Given the description of an element on the screen output the (x, y) to click on. 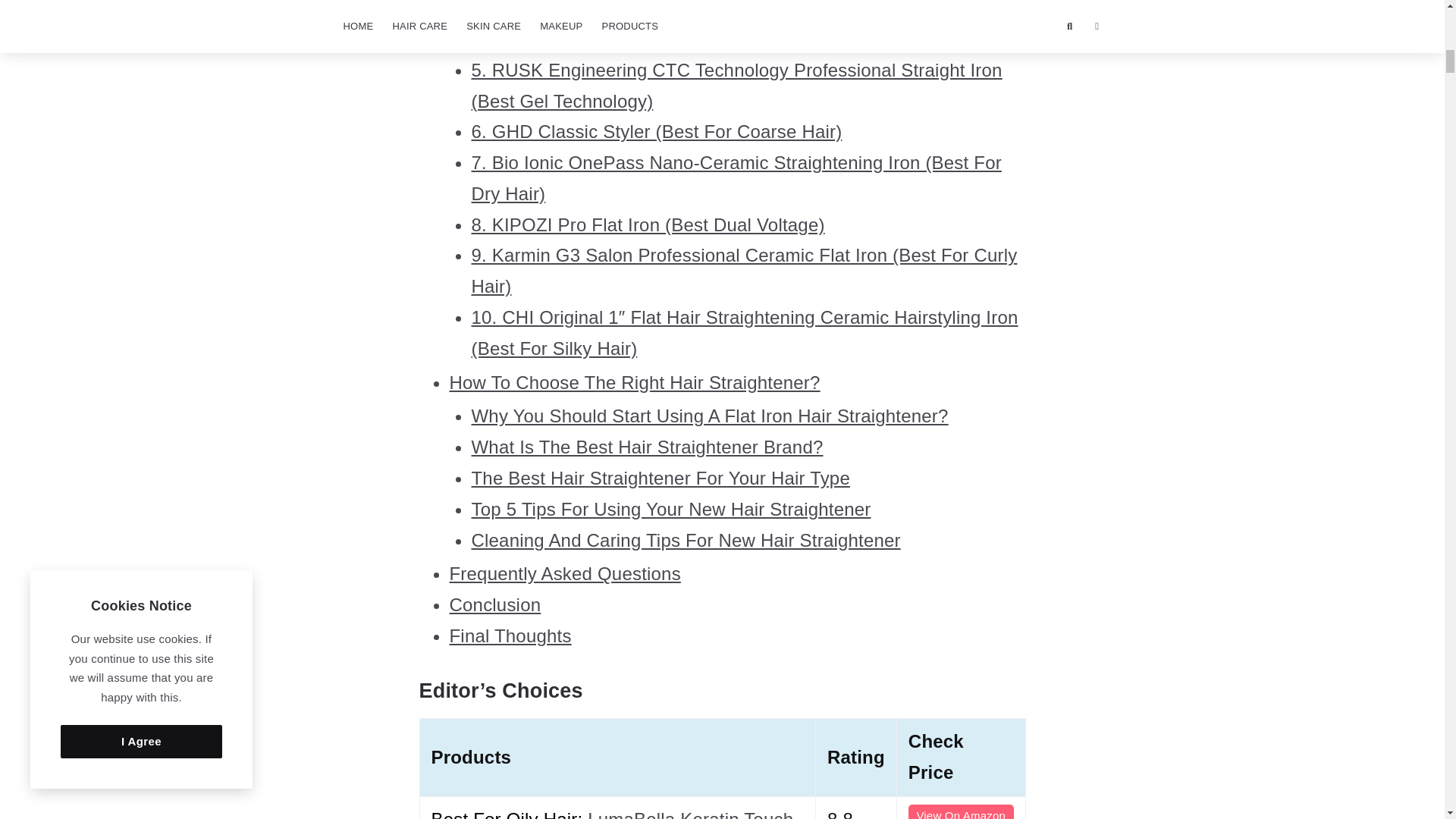
Why You Should Start Using A Flat Iron Hair Straightener? (710, 415)
The Best Hair Straightener For Your Hair Type (660, 477)
Top 5 Tips For Using Your New Hair Straightener (670, 508)
What Is The Best Hair Straightener Brand? (647, 446)
How To Choose The Right Hair Straightener? (633, 382)
